Given the description of an element on the screen output the (x, y) to click on. 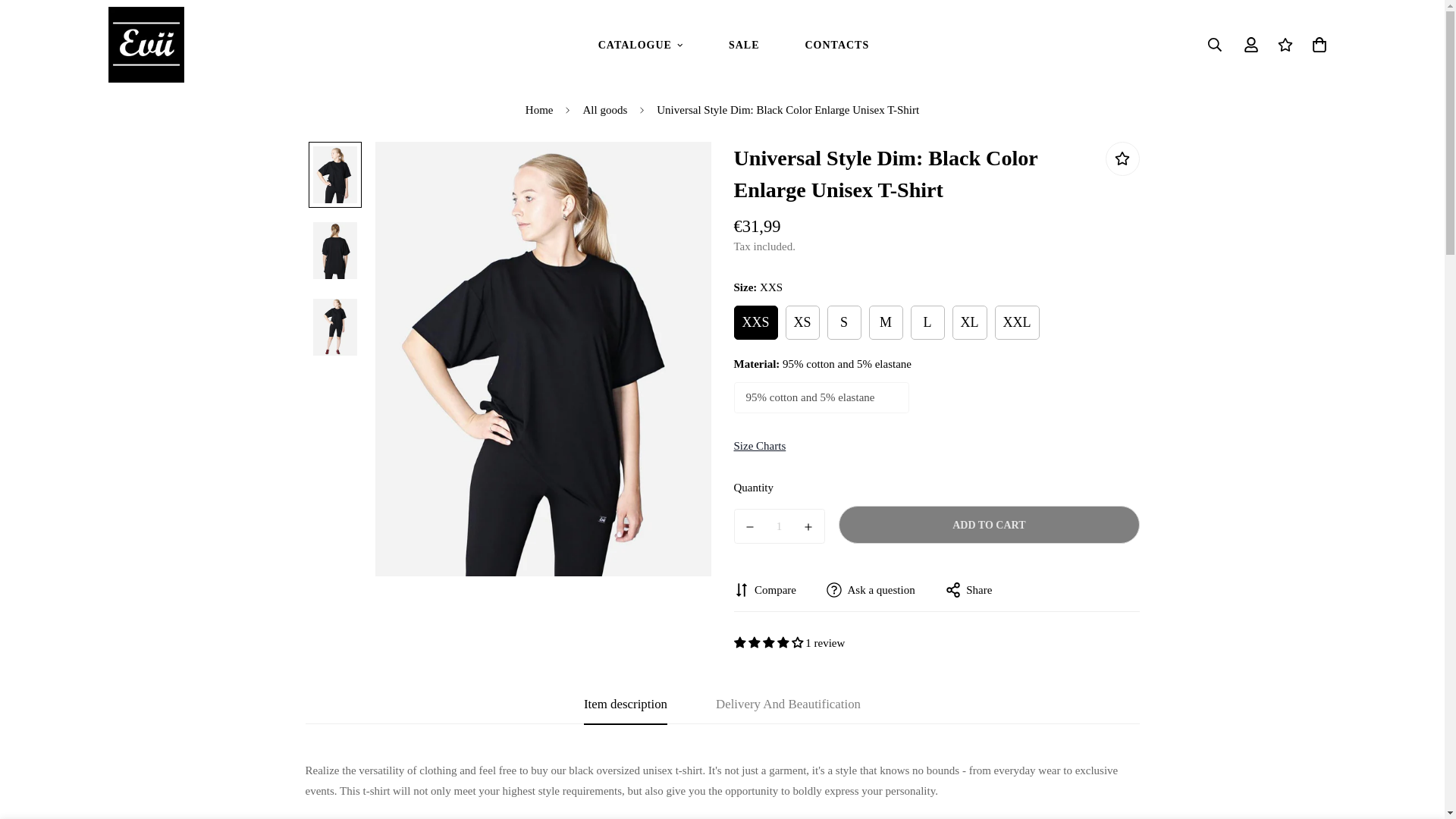
Back to the home page (733, 44)
XS (538, 109)
XXL (640, 44)
L (759, 445)
